Given the description of an element on the screen output the (x, y) to click on. 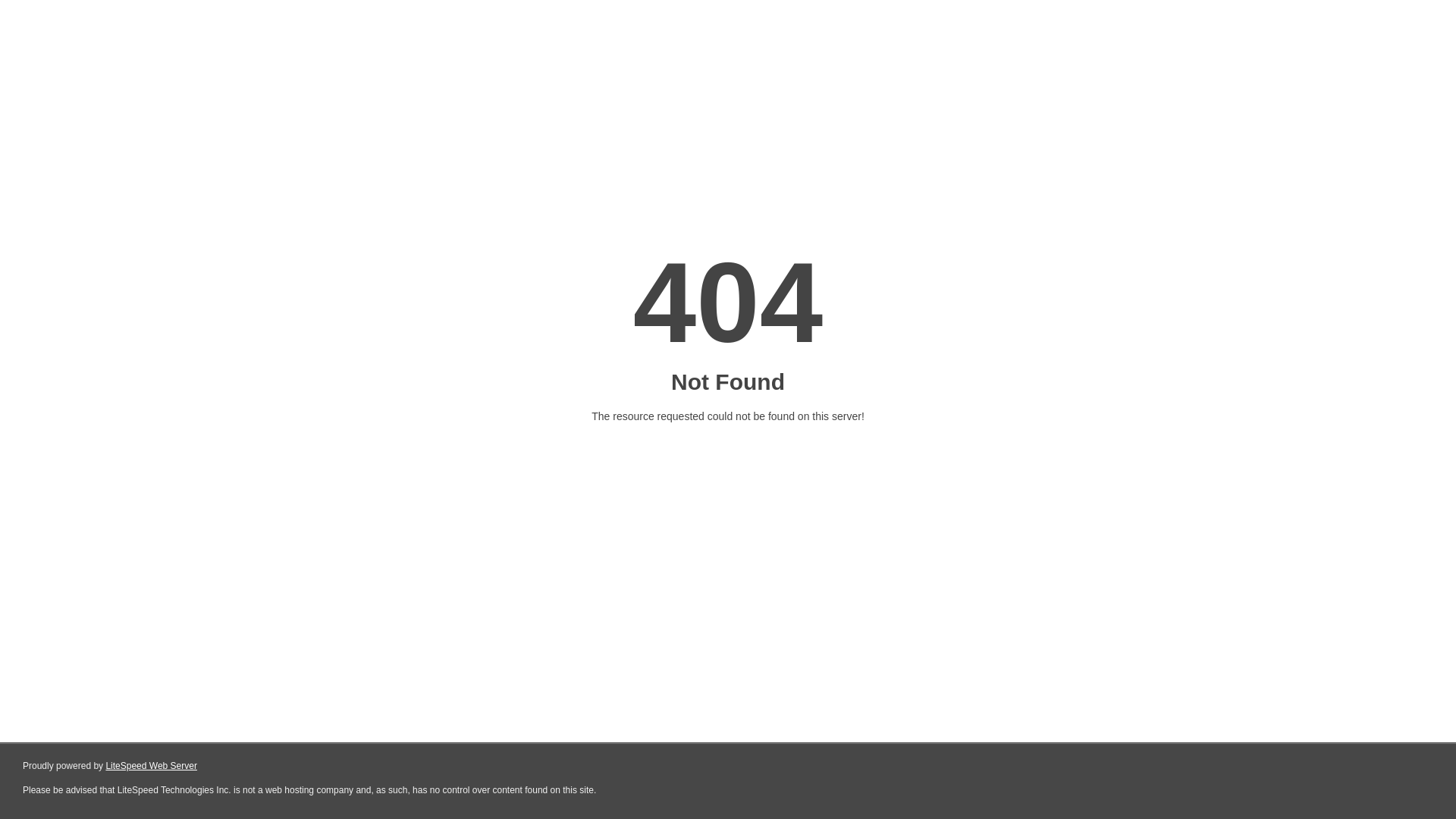
LiteSpeed Web Server Element type: text (151, 765)
